Given the description of an element on the screen output the (x, y) to click on. 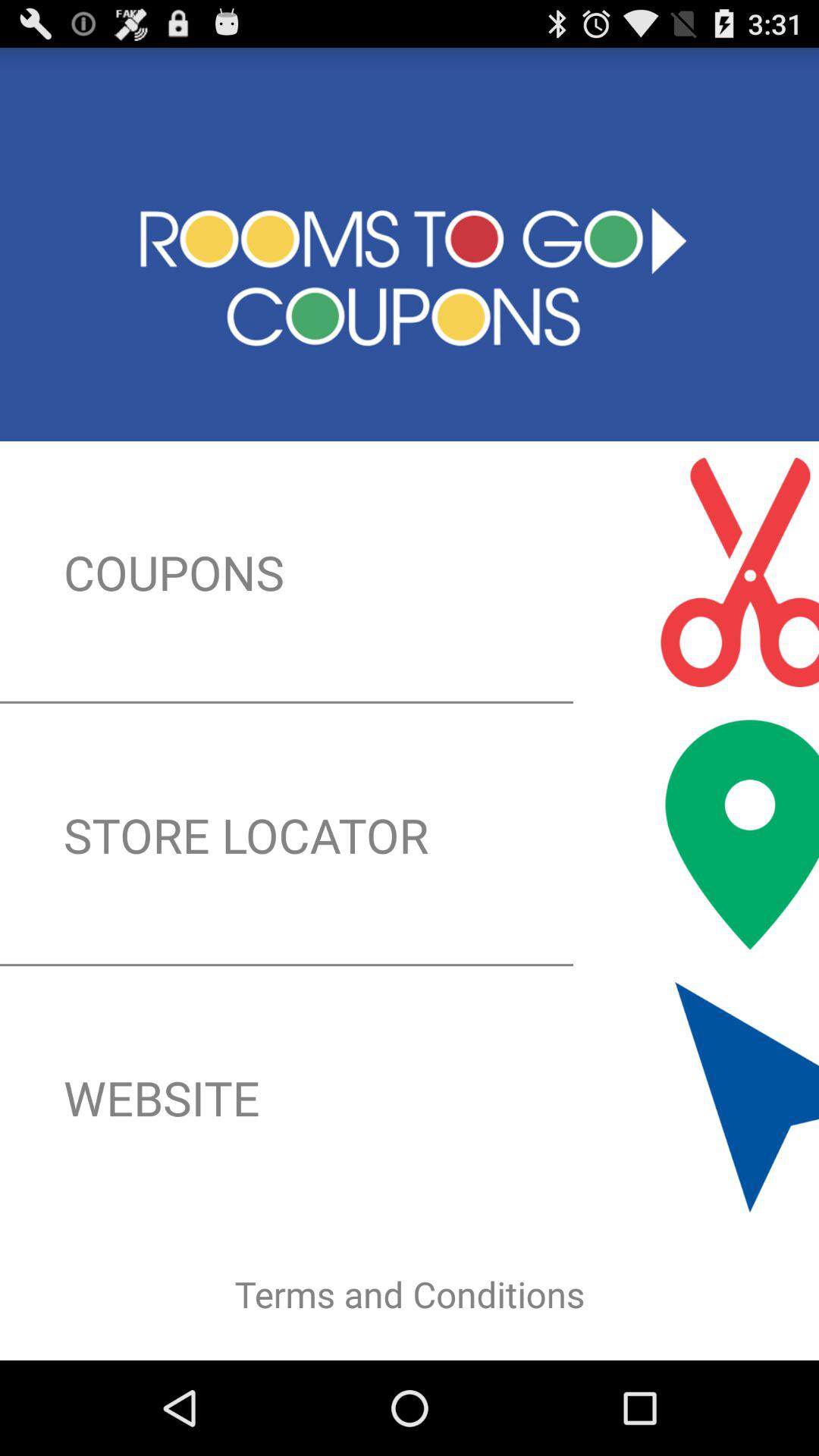
tap coupons icon (409, 572)
